Given the description of an element on the screen output the (x, y) to click on. 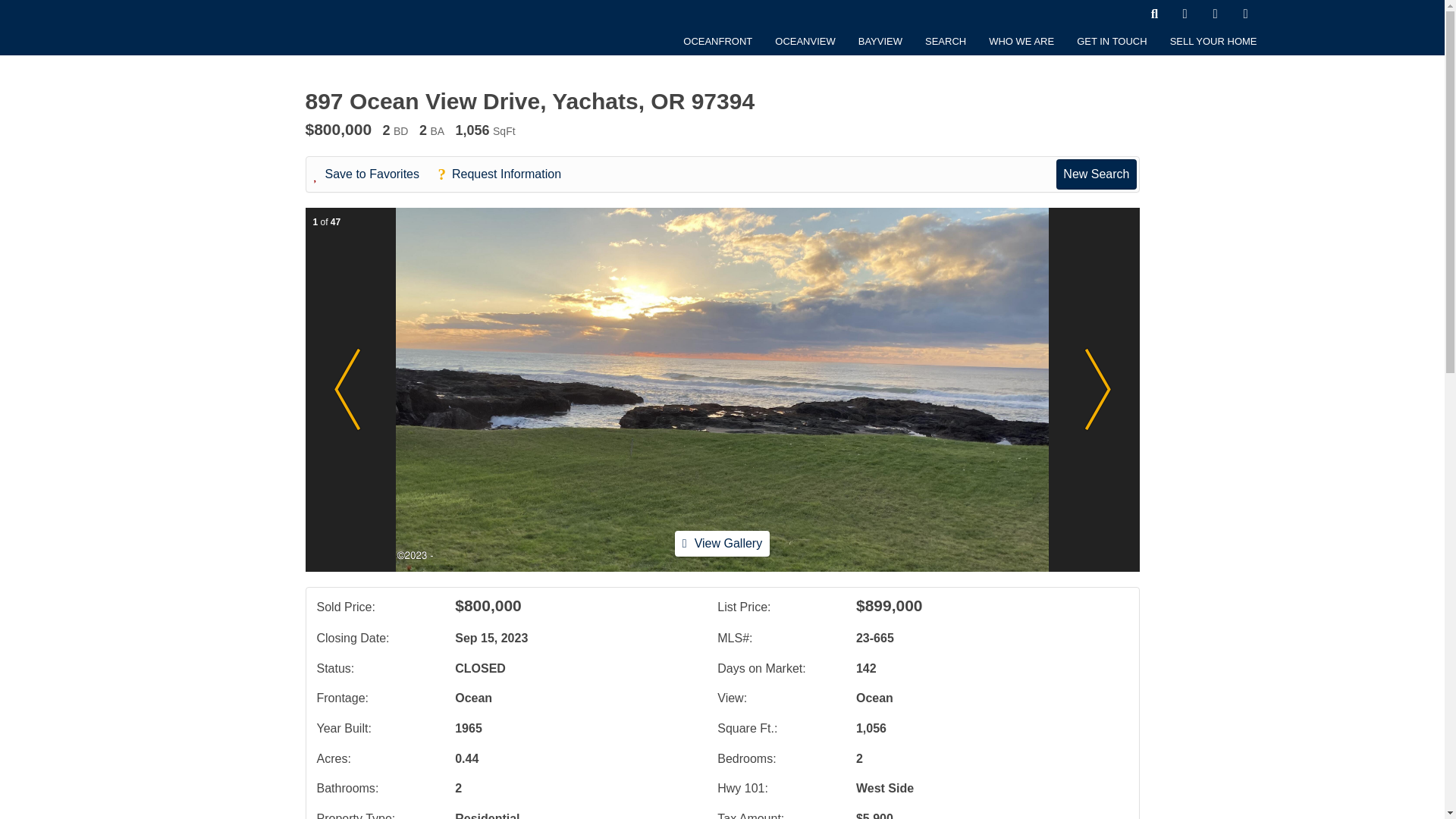
Request Information (507, 173)
BAYVIEW (880, 41)
OCEANVIEW (804, 41)
View Gallery (722, 543)
New Search (1096, 173)
SEARCH (945, 41)
WHO WE ARE (1021, 41)
View Gallery (722, 543)
GET IN TOUCH (1112, 41)
Save to Favorites (374, 173)
